Given the description of an element on the screen output the (x, y) to click on. 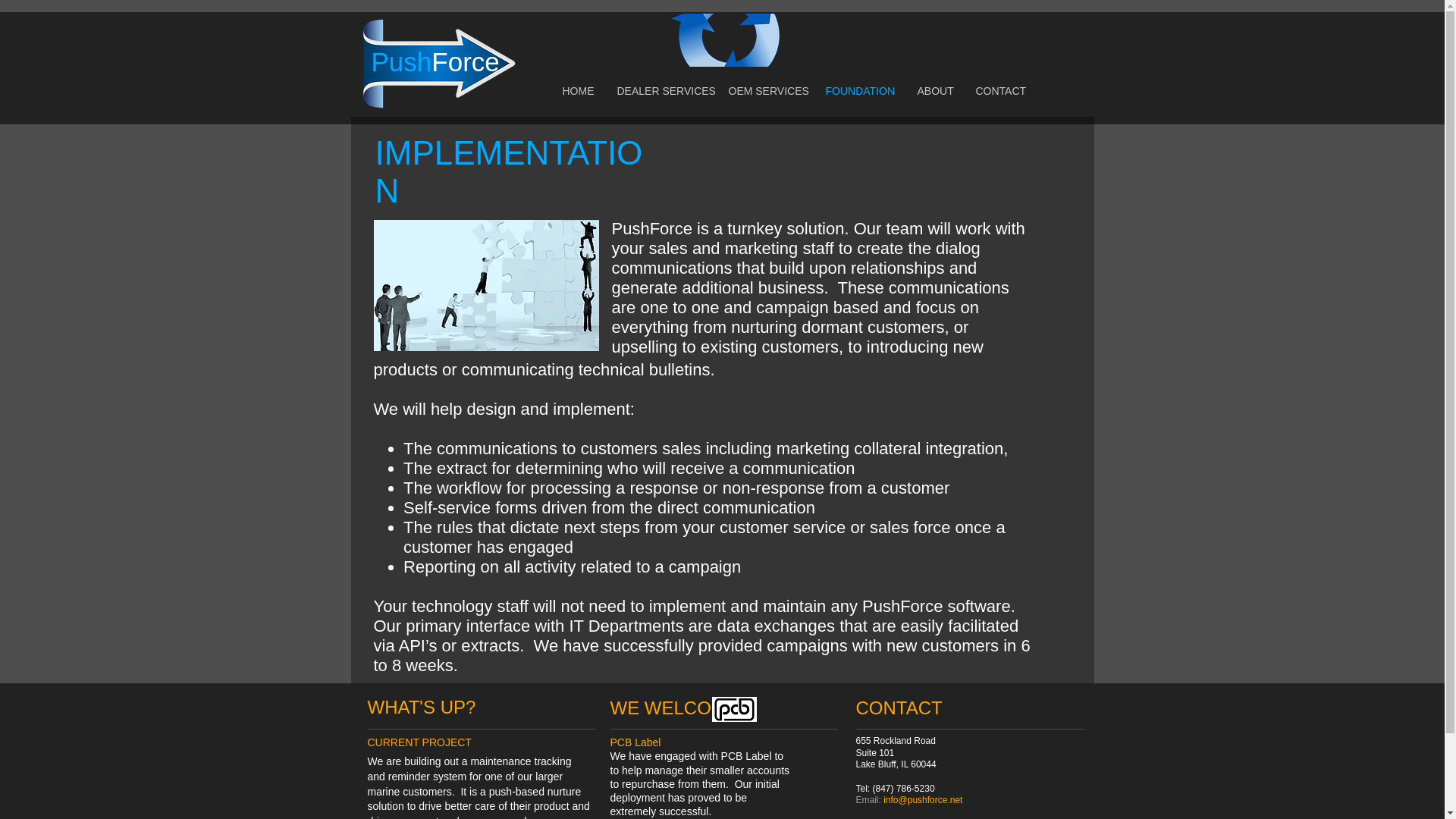
HOME (577, 90)
DEALER SERVICES (660, 90)
CONTACT (999, 90)
Push (401, 61)
FOUNDATION (859, 90)
ABOUT (934, 90)
OEM SERVICES (765, 90)
Force (464, 61)
